Given the description of an element on the screen output the (x, y) to click on. 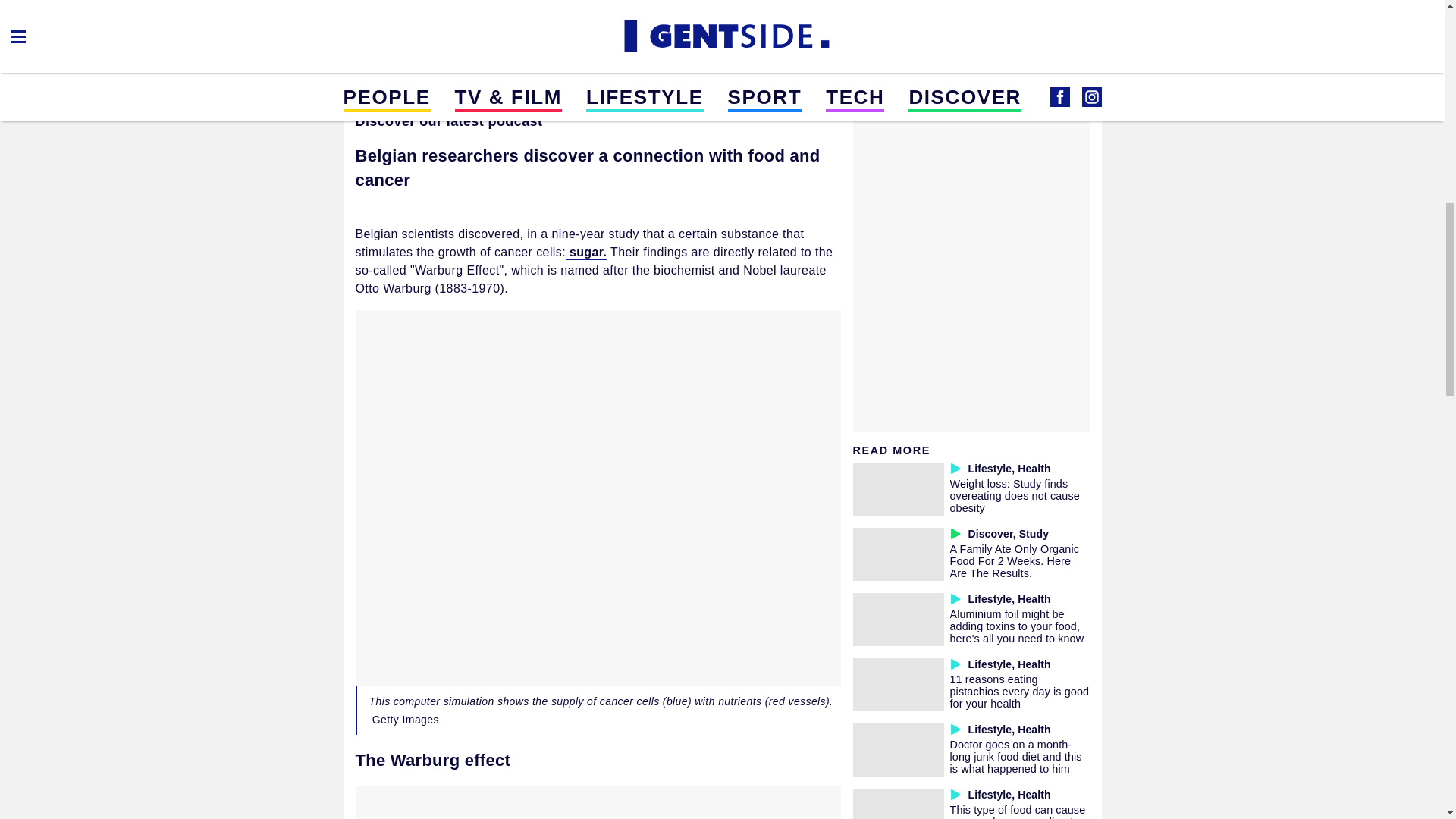
Share on Flipboard (451, 21)
Pin it (524, 21)
cancer cell (444, 91)
cancer. (527, 73)
Share on Mail (415, 21)
Tweeter (488, 21)
sugar. (586, 252)
Share on Facebook (378, 21)
foods. (788, 91)
